Given the description of an element on the screen output the (x, y) to click on. 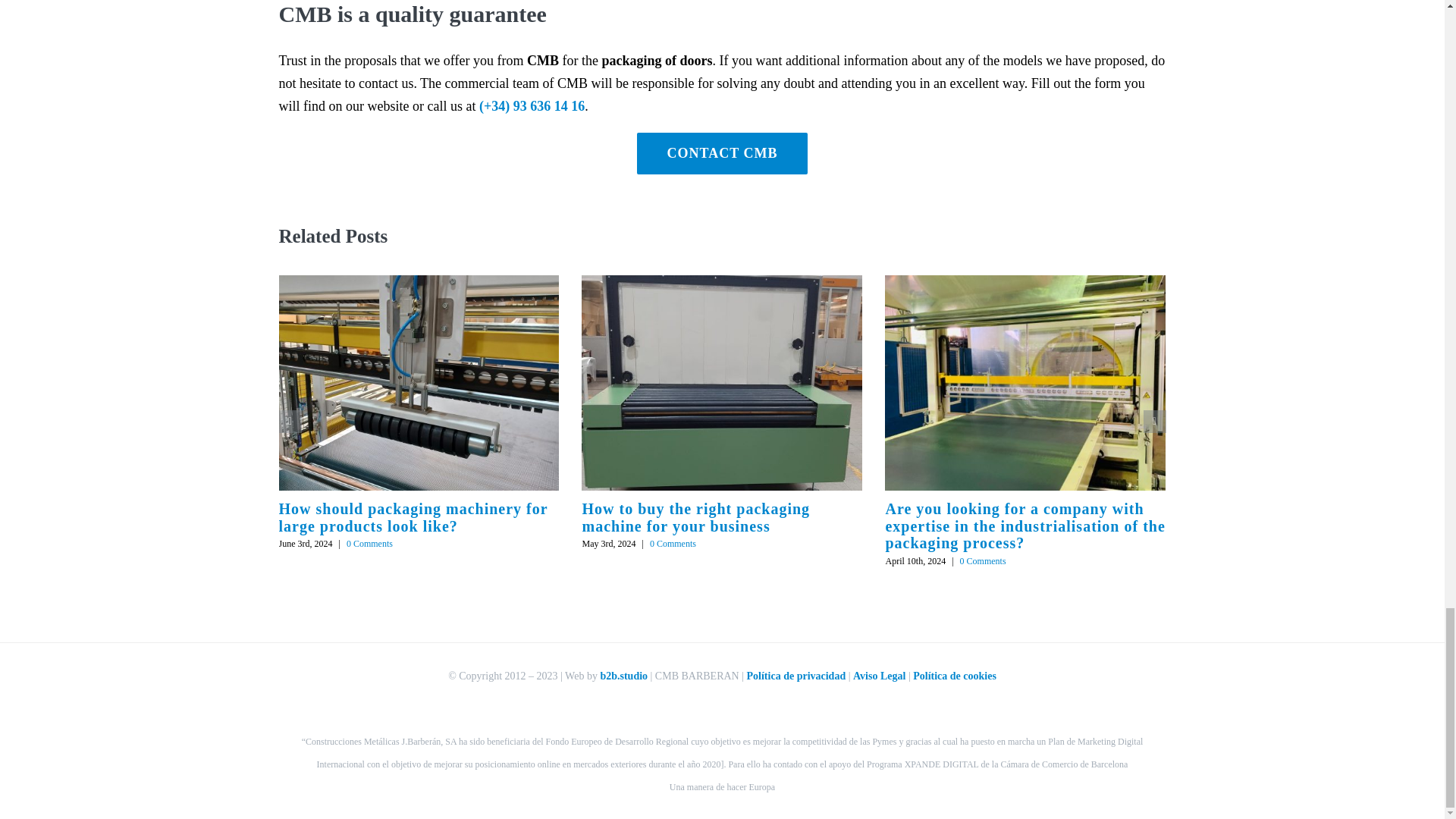
How to buy the right packaging machine for your business (694, 517)
How should packaging machinery for large products look like? (413, 517)
door packaging (722, 153)
